Given the description of an element on the screen output the (x, y) to click on. 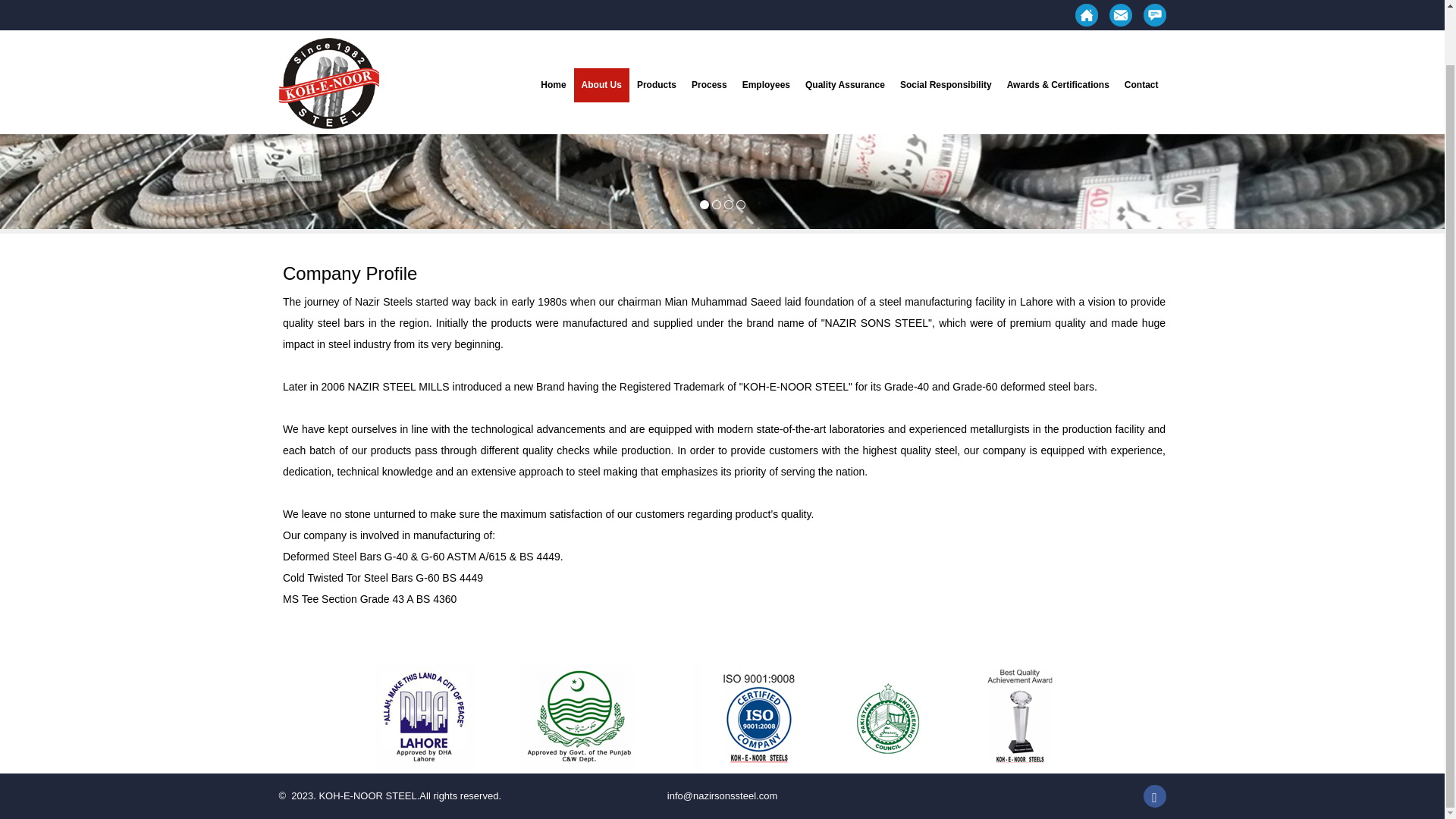
Quality Assurance (844, 26)
Social Responsibility (945, 26)
Employees (766, 26)
About Us (600, 26)
Process (709, 26)
Products (656, 26)
Home (552, 26)
Contact (1141, 26)
